Given the description of an element on the screen output the (x, y) to click on. 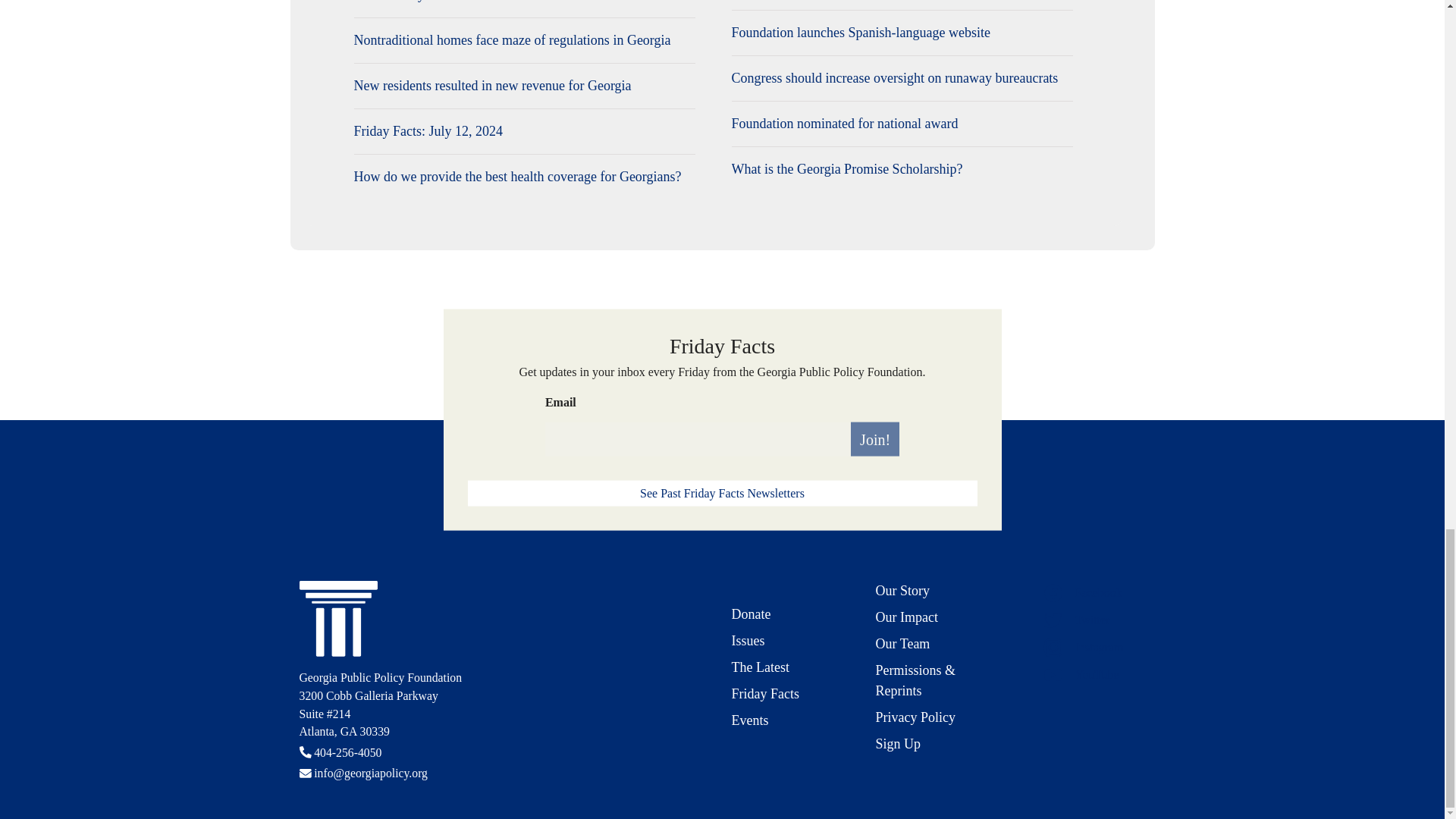
New residents resulted in new revenue for Georgia (523, 86)
Nontraditional homes face maze of regulations in Georgia (523, 40)
Join! (874, 439)
